Given the description of an element on the screen output the (x, y) to click on. 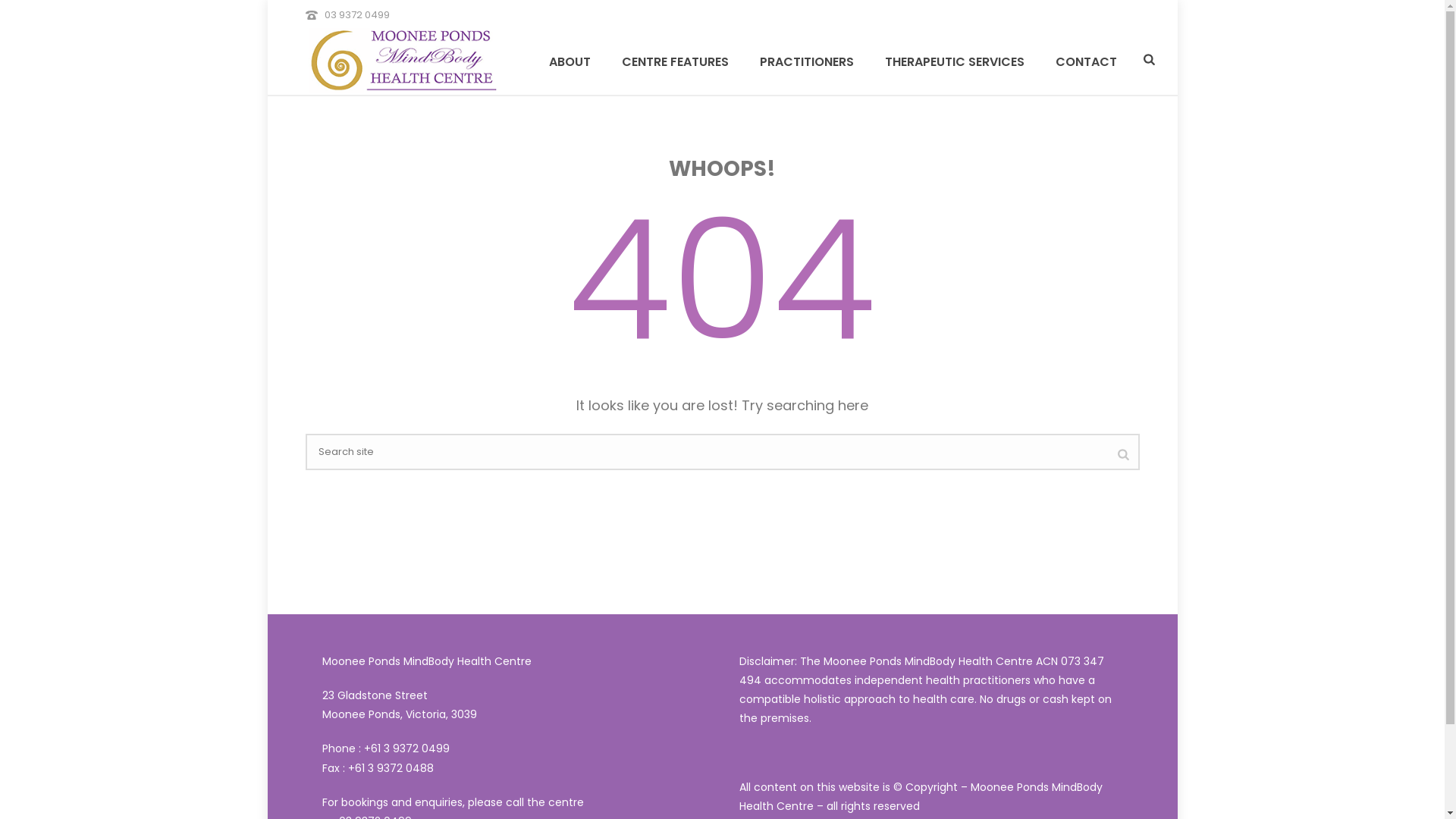
03 9372 0499 Element type: text (356, 14)
THERAPEUTIC SERVICES Element type: text (954, 60)
PRACTITIONERS Element type: text (806, 60)
CENTRE FEATURES Element type: text (674, 60)
CONTACT Element type: text (1086, 60)
ABOUT Element type: text (569, 60)
